Given the description of an element on the screen output the (x, y) to click on. 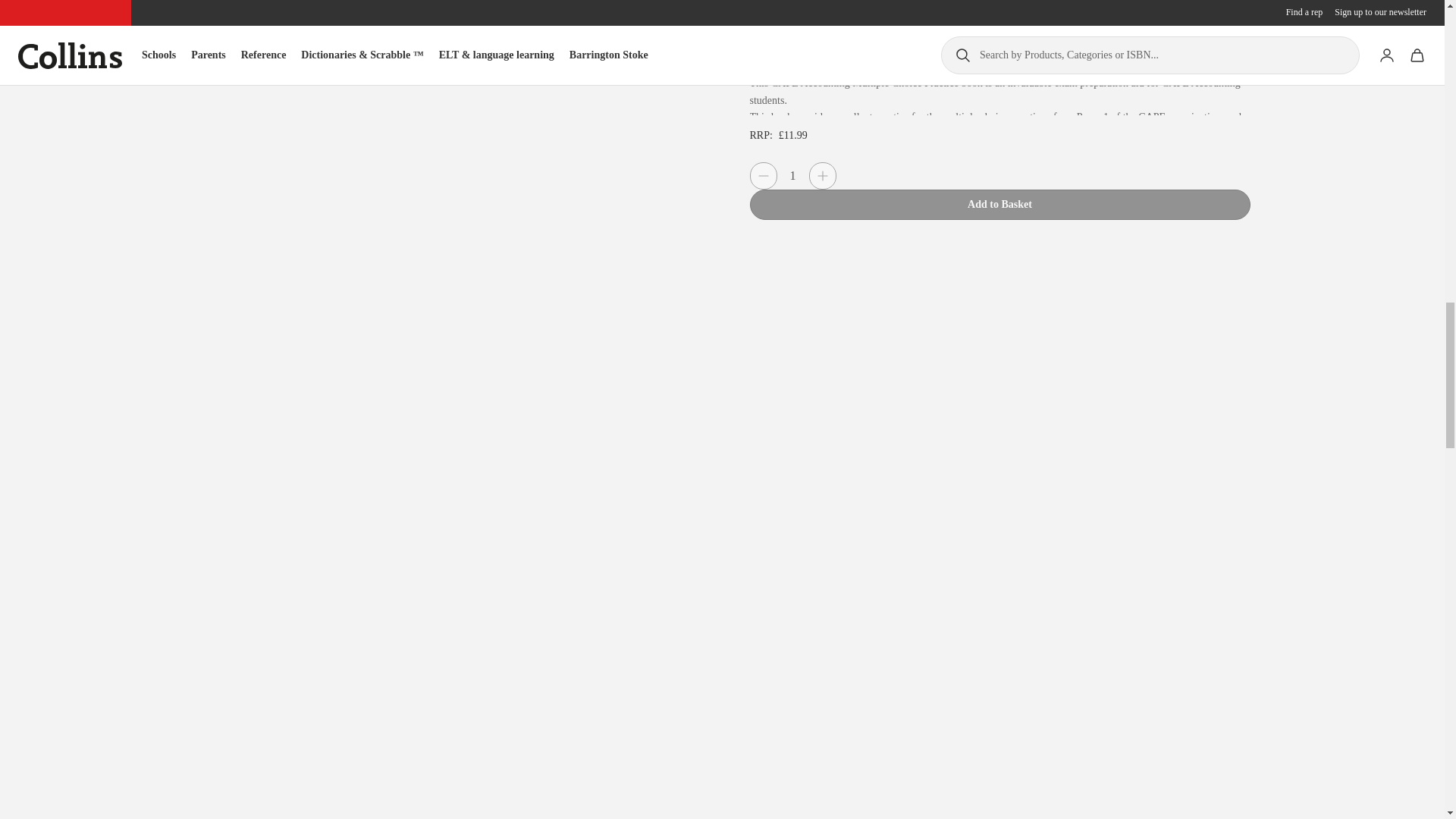
1 (791, 175)
Decrease quantity (762, 175)
Increase quantity (821, 175)
Add to Basket (999, 204)
